Given the description of an element on the screen output the (x, y) to click on. 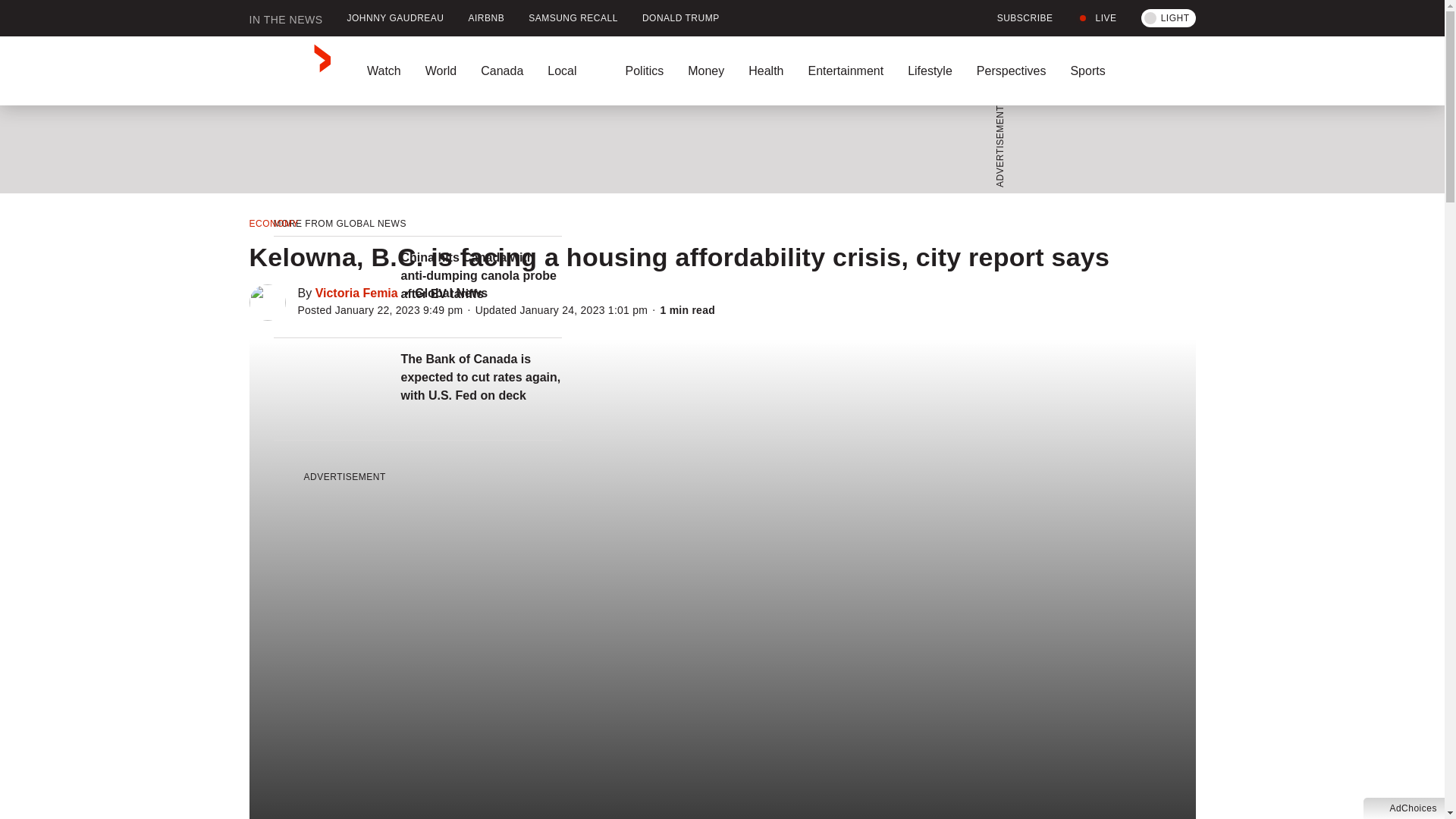
SAMSUNG RECALL (573, 18)
Local (573, 70)
Perspectives (1010, 70)
JOHNNY GAUDREAU (395, 18)
Entertainment (844, 70)
DONALD TRUMP (681, 18)
LIVE (1096, 18)
GlobalNews home (289, 70)
